Given the description of an element on the screen output the (x, y) to click on. 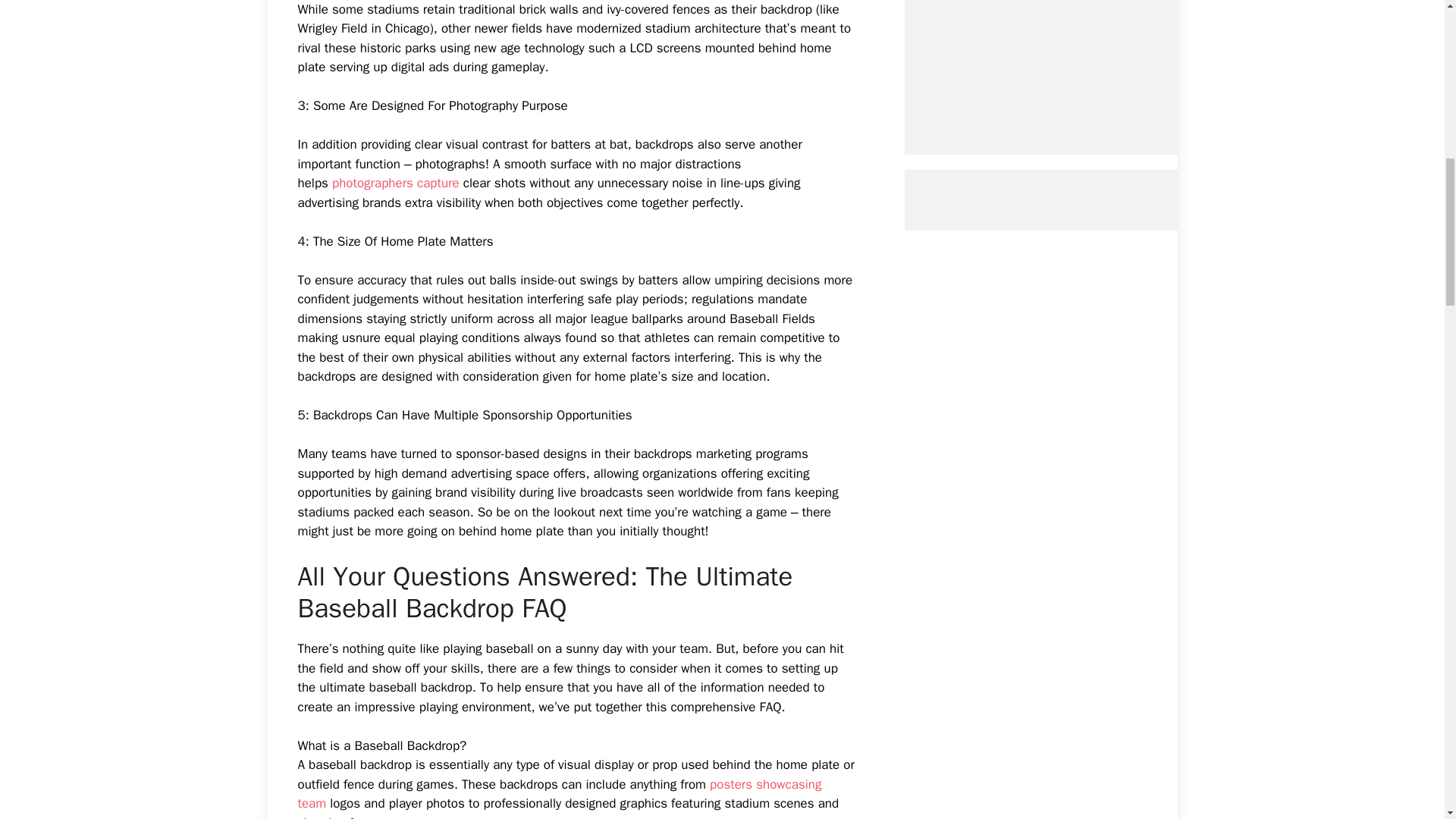
photographers capture (395, 182)
Advertisement (1066, 62)
Scroll back to top (1406, 720)
posters showcasing team (559, 794)
